Given the description of an element on the screen output the (x, y) to click on. 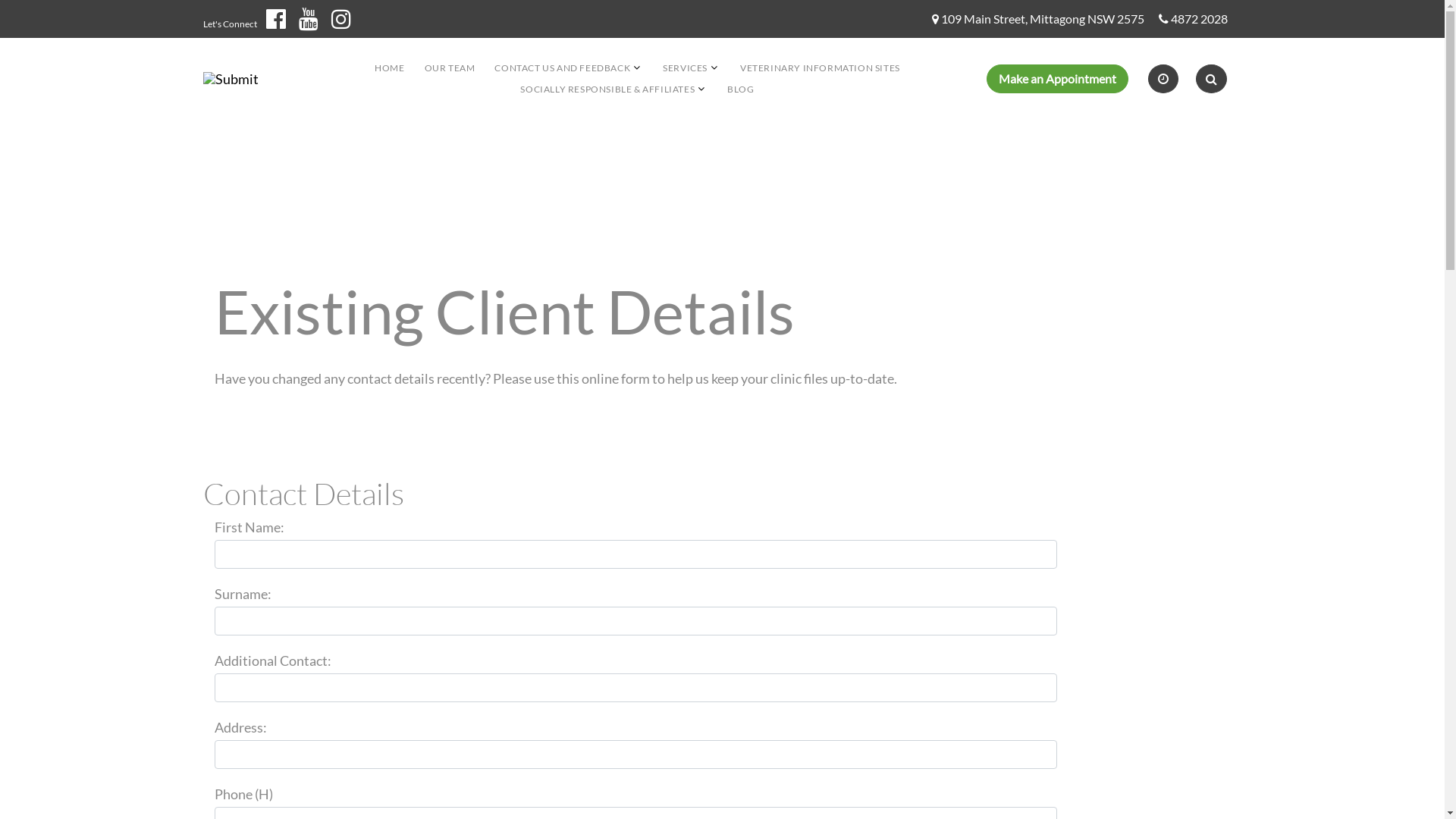
Make an Appointment Element type: text (1056, 78)
4872 2028 Element type: text (1198, 19)
VETERINARY INFORMATION SITES Element type: text (820, 67)
CONTACT US AND FEEDBACK Element type: text (562, 67)
BLOG Element type: text (740, 88)
SOCIALLY RESPONSIBLE & AFFILIATES Element type: text (607, 88)
OUR TEAM Element type: text (449, 67)
HOME Element type: text (389, 67)
SERVICES Element type: text (684, 67)
